Given the description of an element on the screen output the (x, y) to click on. 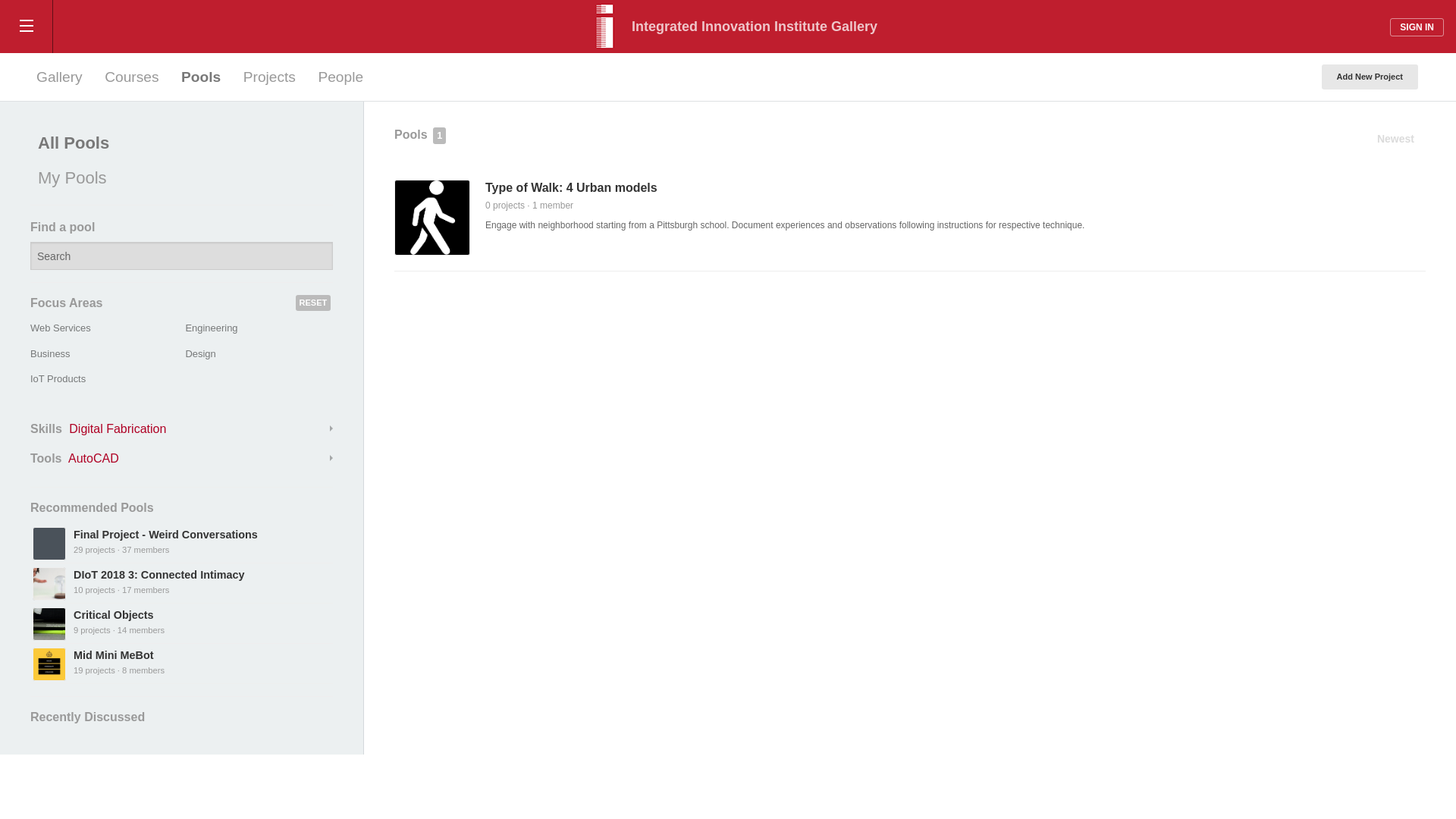
RESET (313, 302)
Integrated Innovation Institute Gallery (727, 26)
Engineering (210, 327)
My Pools (177, 178)
Skills Digital Fabrication (181, 429)
All Pools (177, 142)
Pools (200, 76)
Add New Project (1370, 76)
People (340, 76)
Courses (131, 76)
Projects (268, 76)
Business (49, 353)
Web Services (60, 327)
SIGN IN (1417, 27)
Gallery (59, 76)
